Given the description of an element on the screen output the (x, y) to click on. 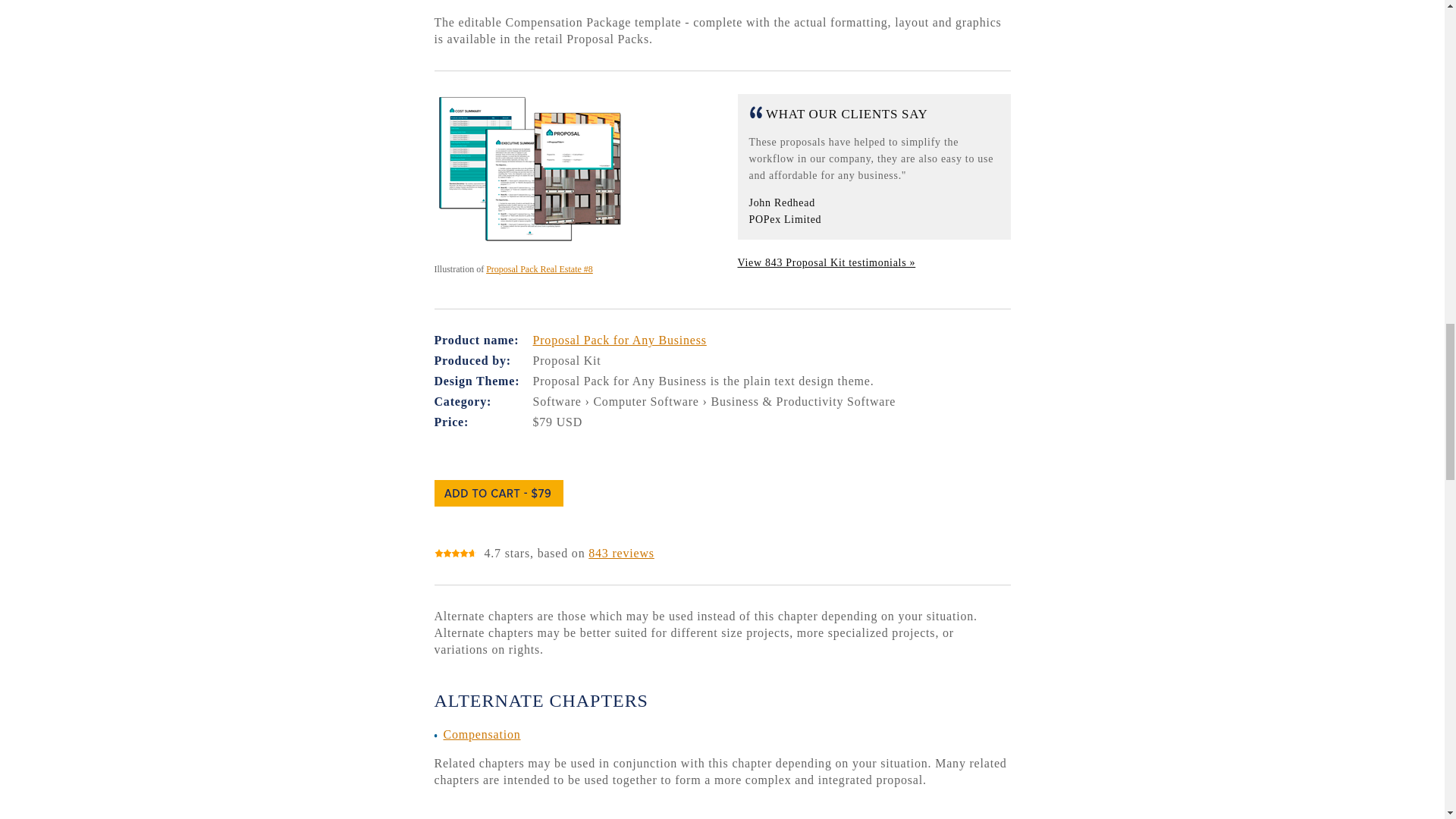
Compensation (480, 734)
Proposal Pack for Any Business (619, 339)
843 reviews (620, 553)
